Given the description of an element on the screen output the (x, y) to click on. 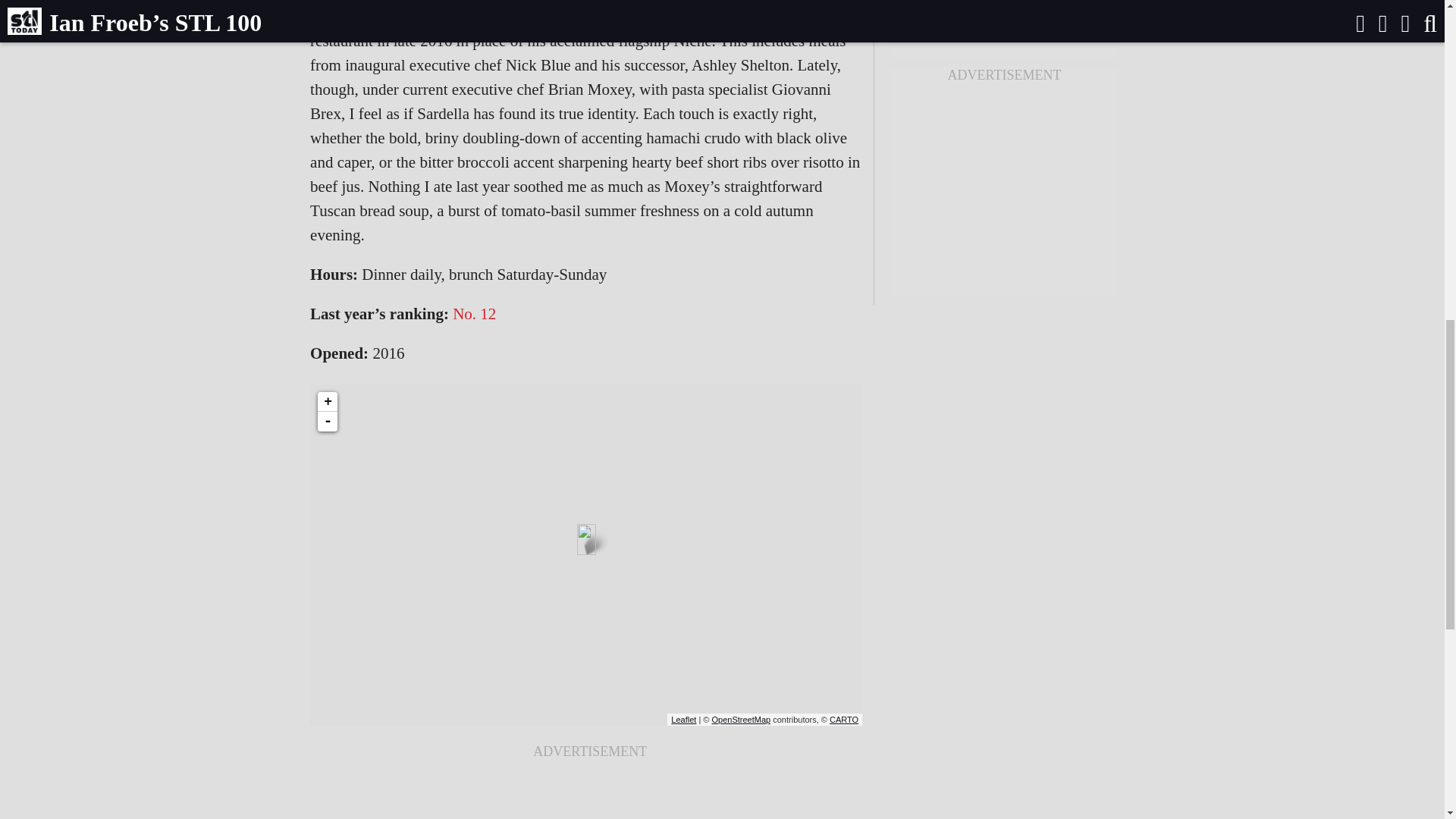
3rd party ad content (590, 794)
CARTO (844, 718)
3rd party ad content (1003, 22)
3rd party ad content (1003, 188)
Leaflet (683, 718)
- (327, 421)
Zoom out (327, 421)
A JS library for interactive maps (683, 718)
No. 12 (474, 313)
OpenStreetMap (741, 718)
